Given the description of an element on the screen output the (x, y) to click on. 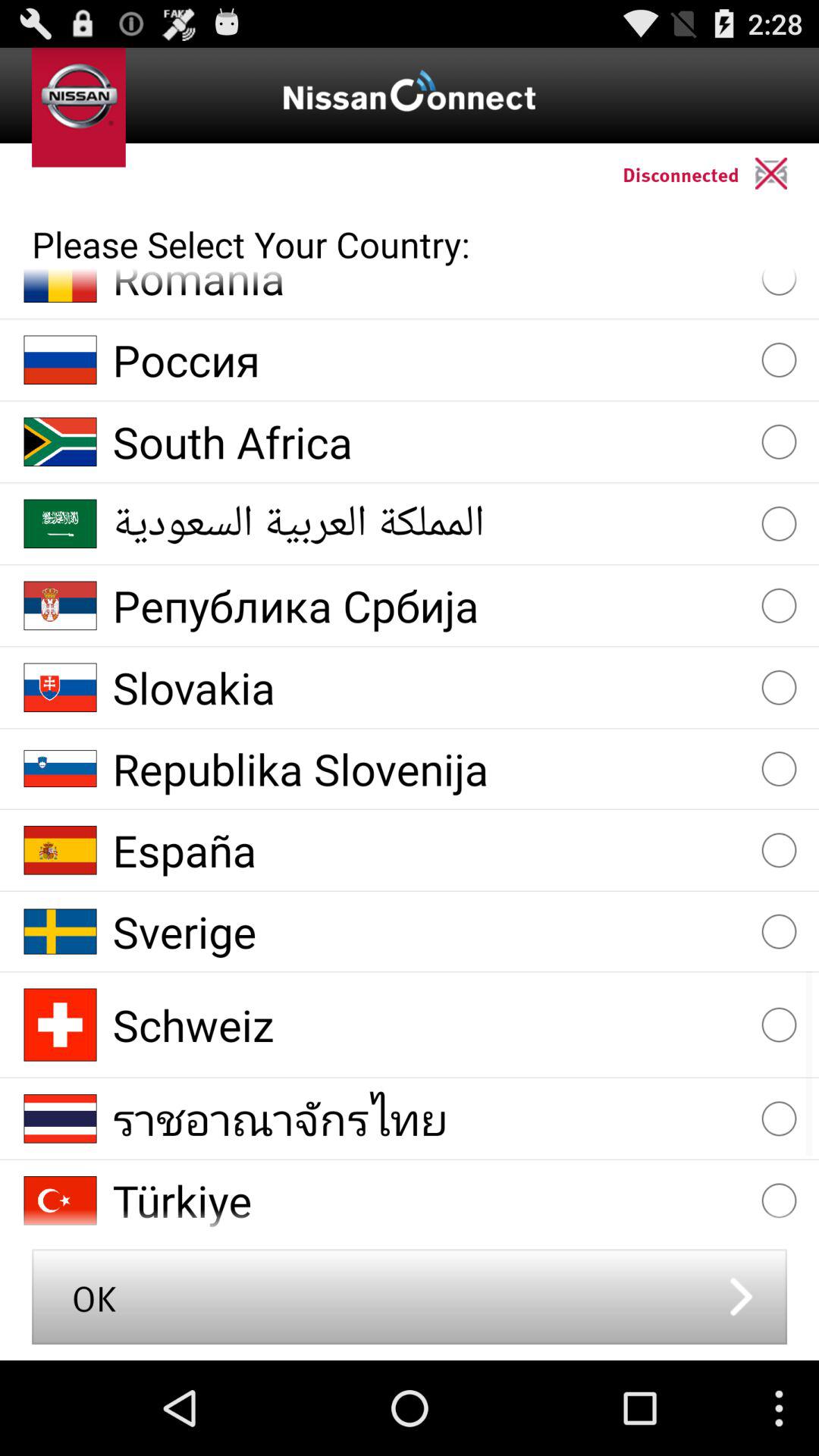
scroll until the slovakia item (429, 687)
